Given the description of an element on the screen output the (x, y) to click on. 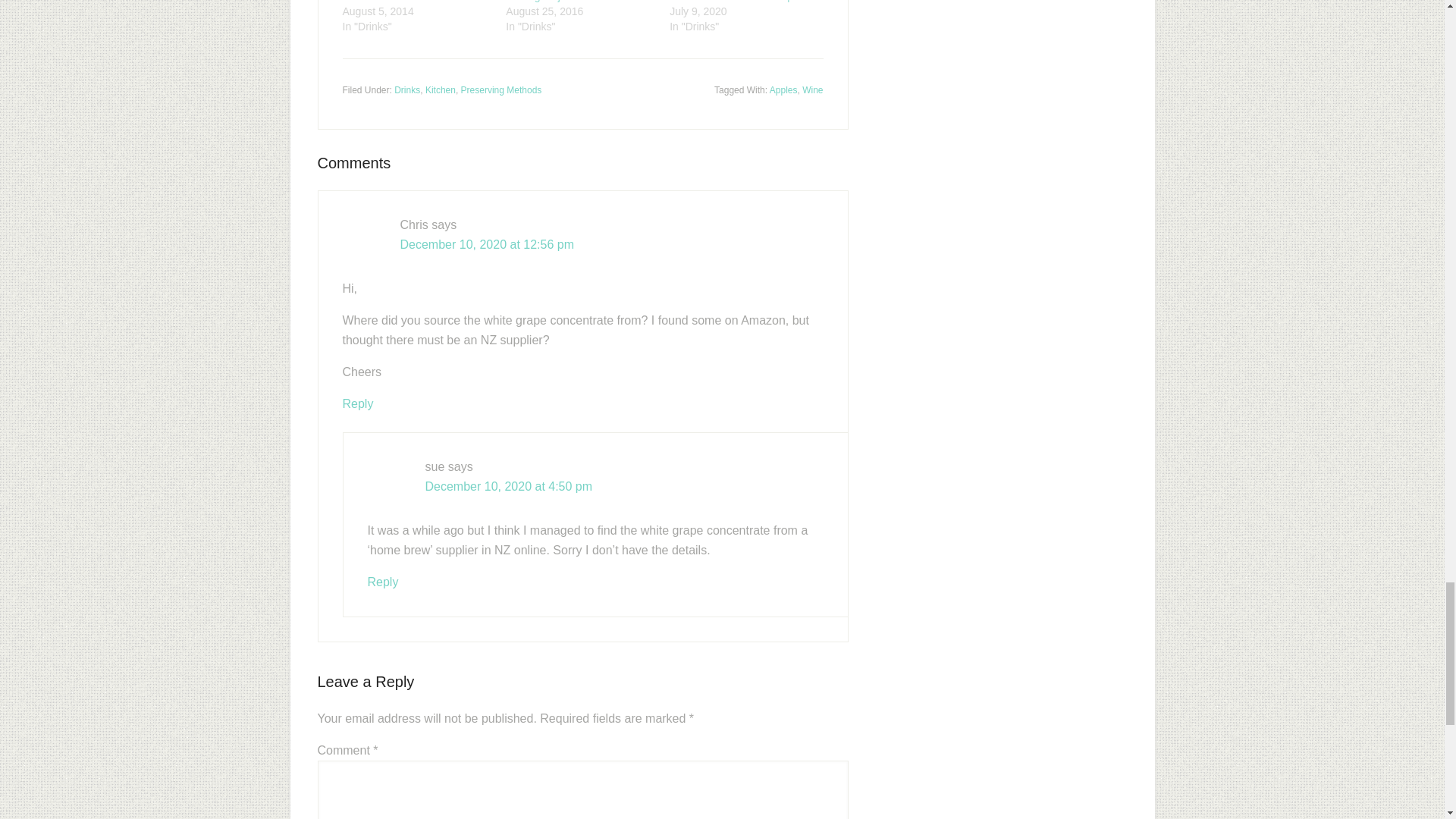
Making Feijoa Wine (551, 1)
Mulled Wine (371, 1)
Lambswool Wassail Recipe (734, 1)
